Given the description of an element on the screen output the (x, y) to click on. 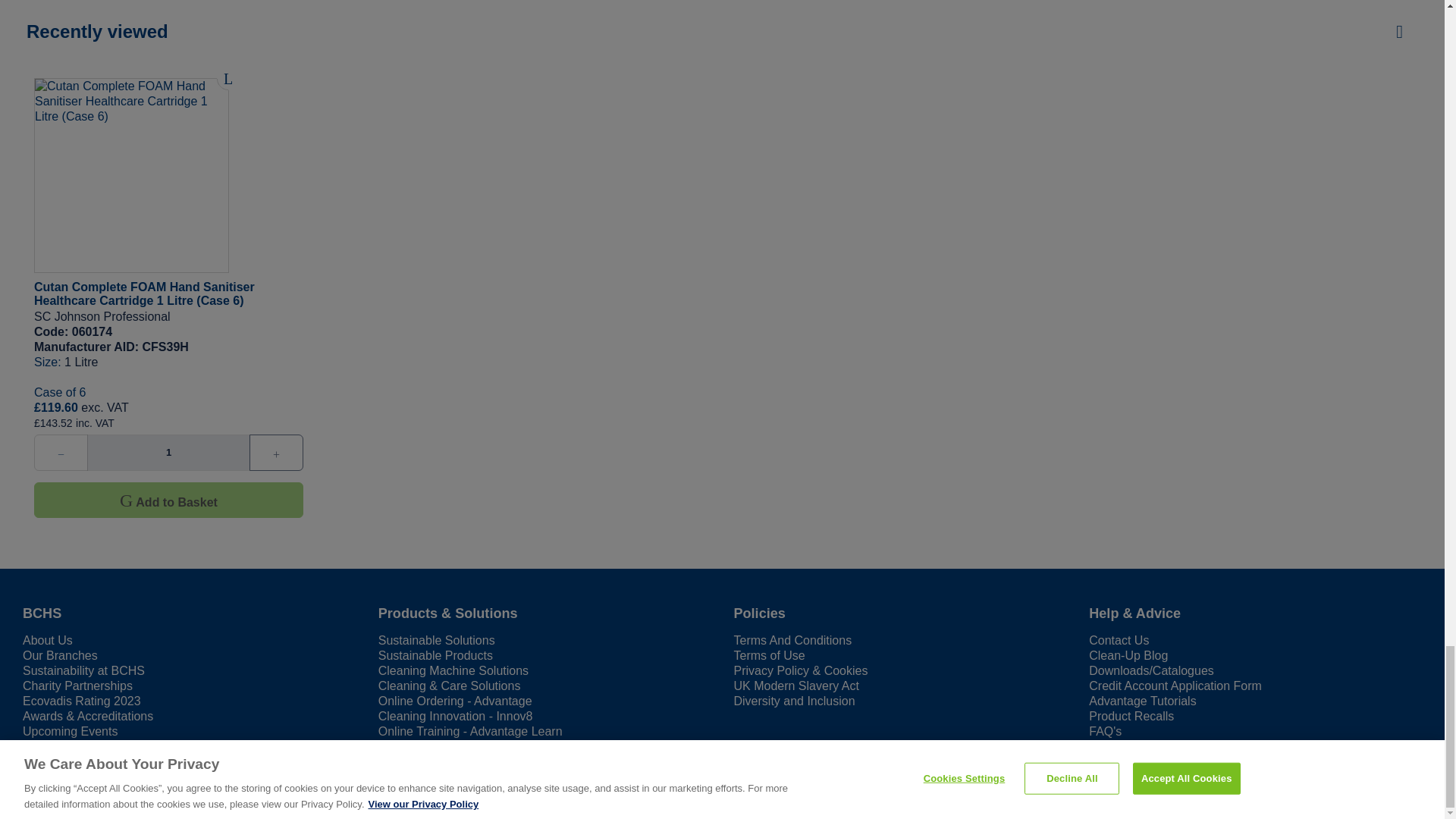
1 (168, 452)
